Given the description of an element on the screen output the (x, y) to click on. 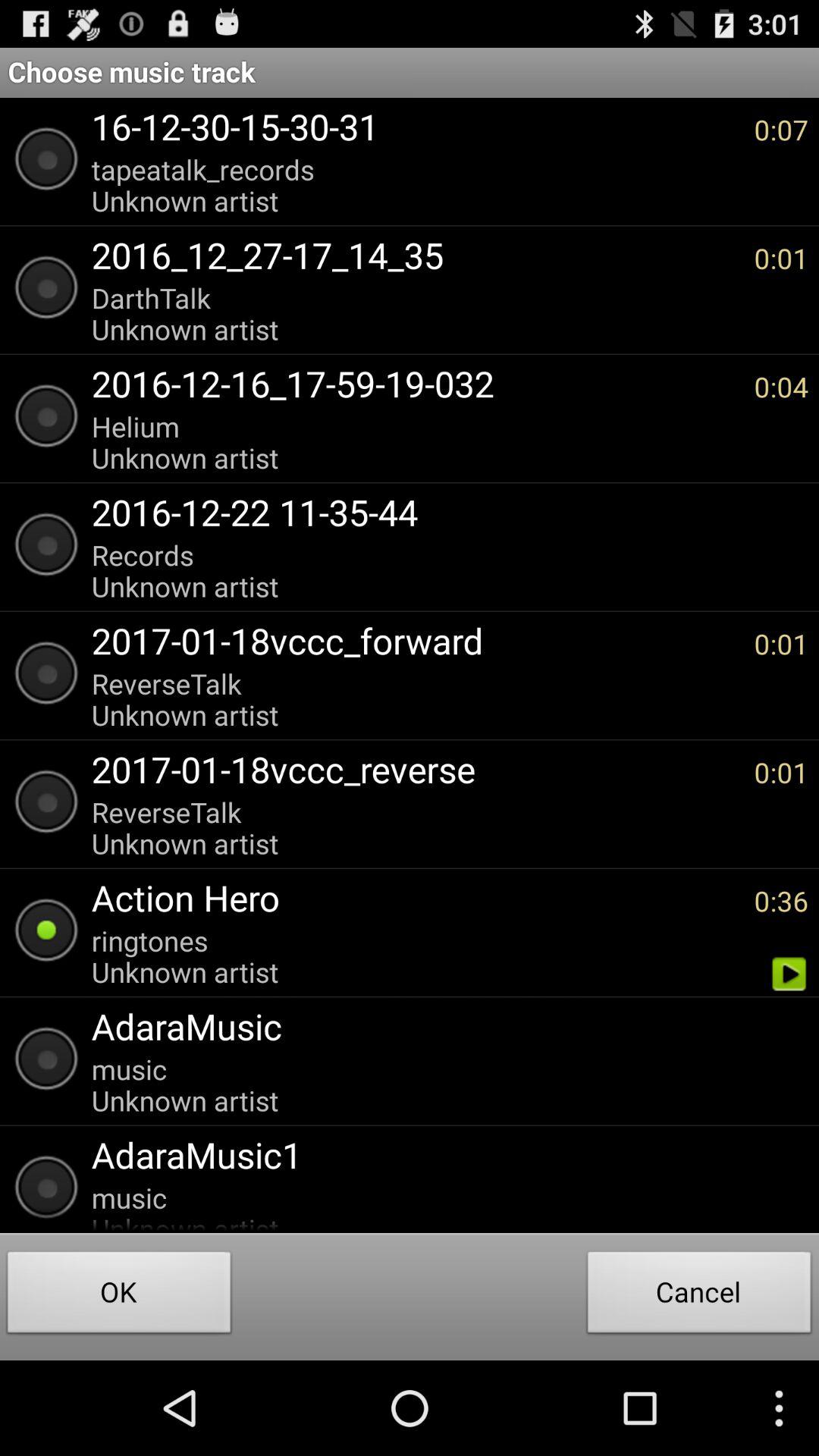
turn on the icon to the right of ringtones
unknown artist app (789, 973)
